Given the description of an element on the screen output the (x, y) to click on. 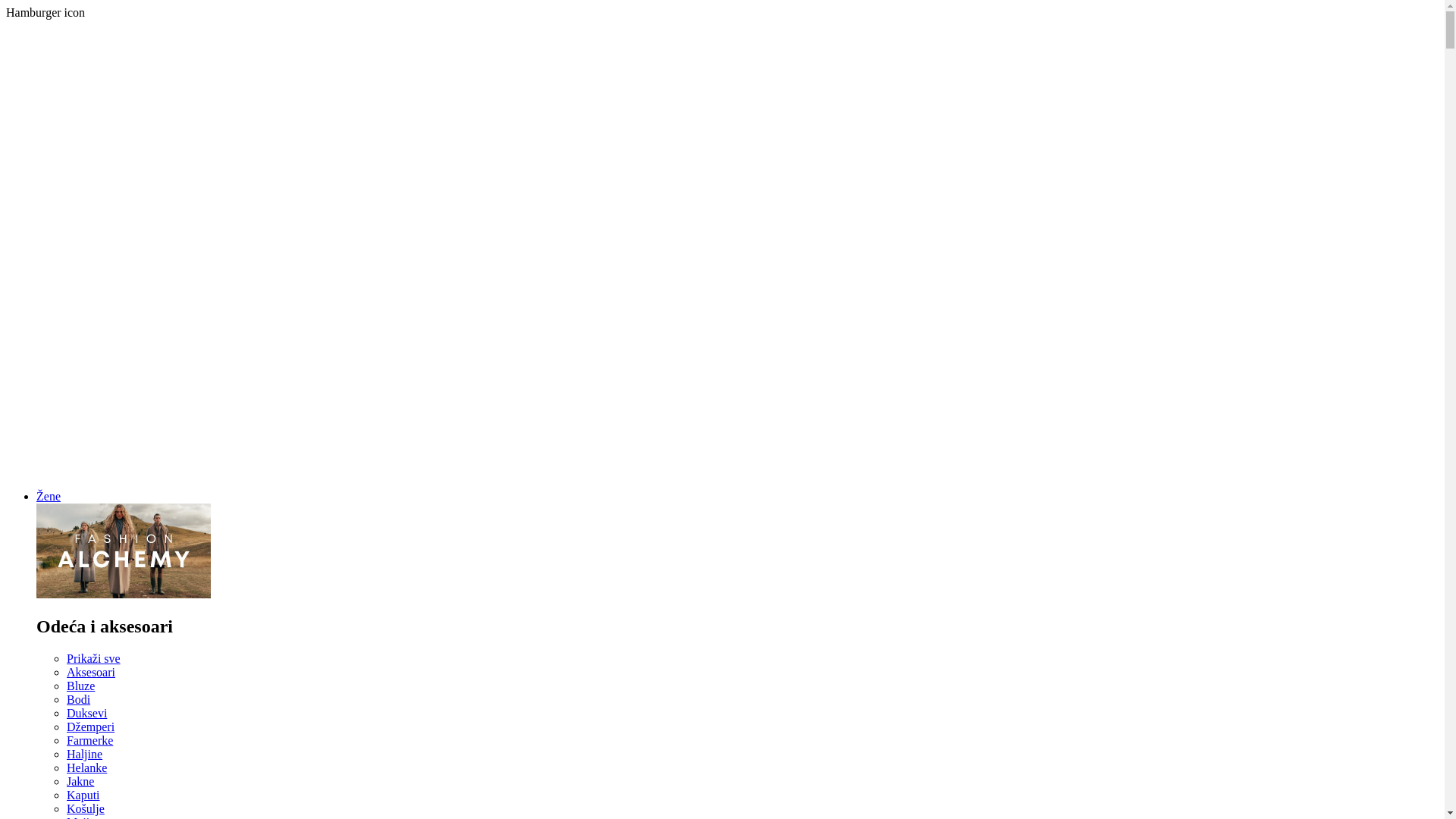
Legend WW - Home Element type: hover (722, 470)
Bluze Element type: text (80, 685)
Helanke Element type: text (86, 767)
Haljine Element type: text (84, 753)
Aksesoari Element type: text (90, 671)
Jakne Element type: text (80, 781)
Farmerke Element type: text (89, 740)
Bodi Element type: text (78, 699)
Duksevi Element type: text (86, 712)
Hamburger icon Element type: text (45, 12)
Kaputi Element type: text (83, 794)
